Given the description of an element on the screen output the (x, y) to click on. 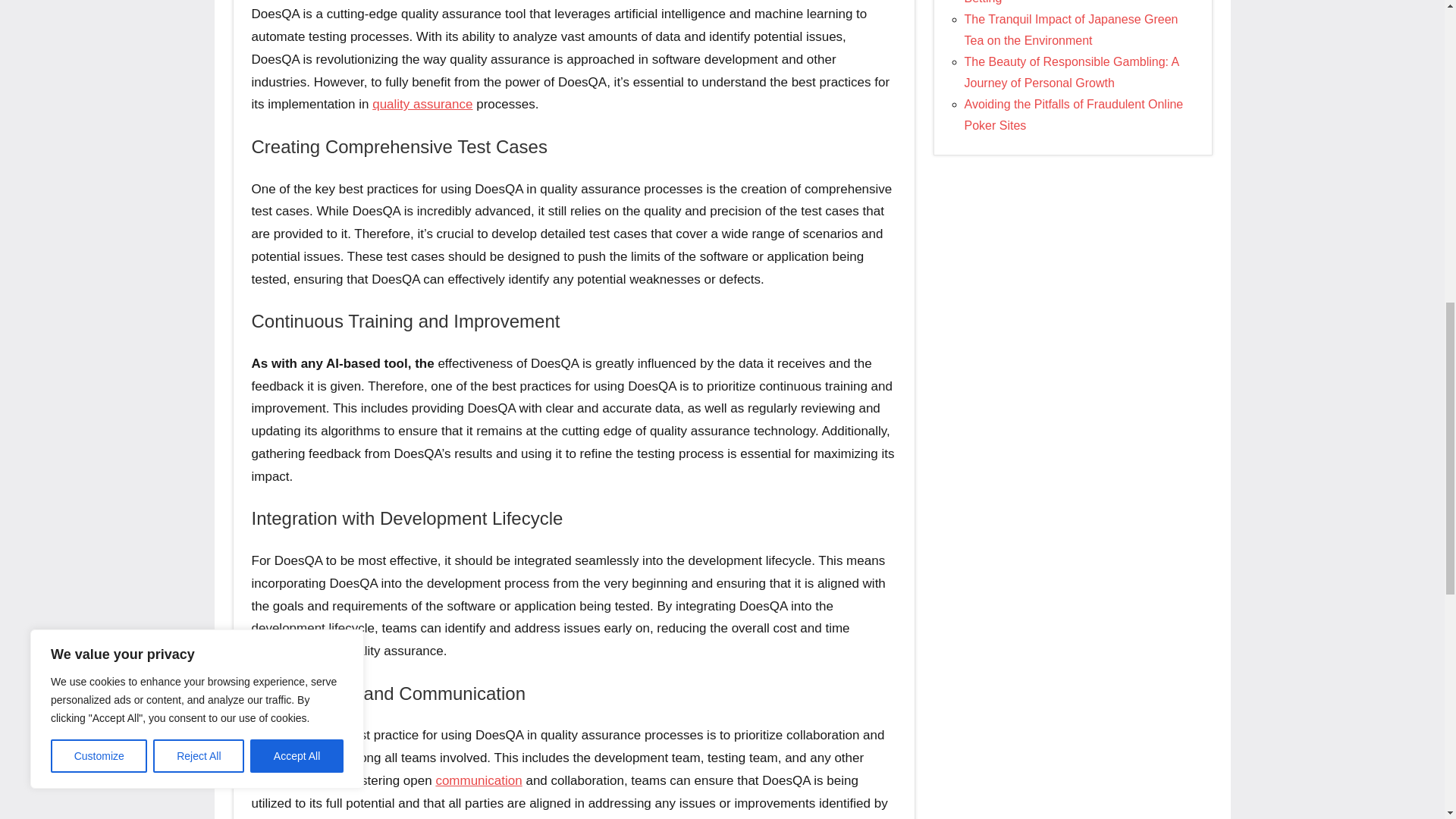
quality assurance (421, 104)
communication (478, 780)
